Given the description of an element on the screen output the (x, y) to click on. 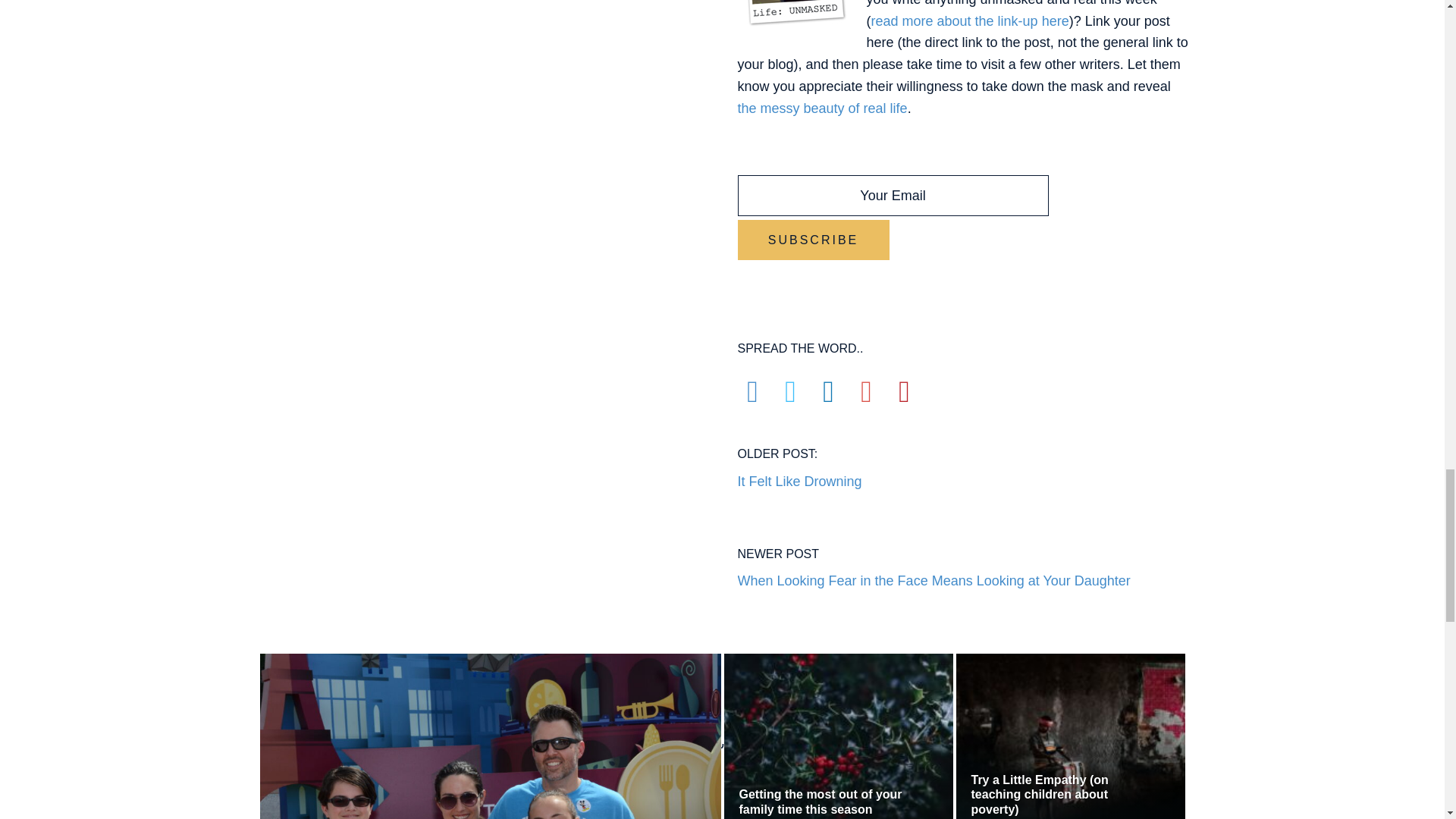
Subscribe (812, 240)
Getting the most out of your family time this season (829, 801)
Subscribe (812, 240)
read more about the link-up here (969, 20)
joy-w-bennett-blog-keep-reading (722, 749)
the messy beauty of real life (821, 108)
Getting the most out of your family time this season (798, 461)
